Given the description of an element on the screen output the (x, y) to click on. 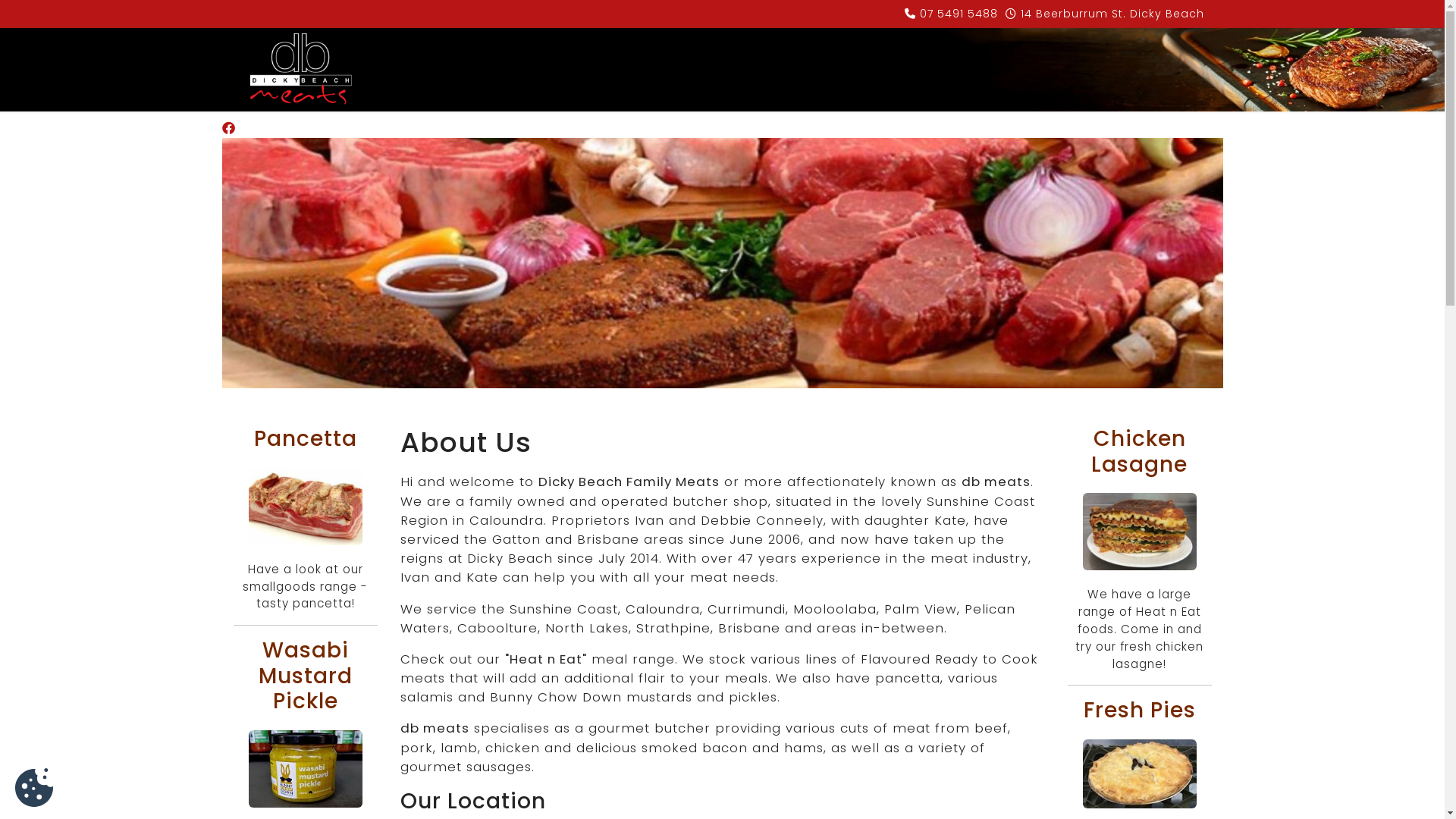
fresh pies Element type: hover (1139, 773)
chicken lasagne Element type: hover (1139, 531)
07 5491 5488 Element type: text (958, 13)
Wasabi Mustard Pickle Element type: hover (305, 768)
tasty pancetta Element type: hover (305, 506)
